Given the description of an element on the screen output the (x, y) to click on. 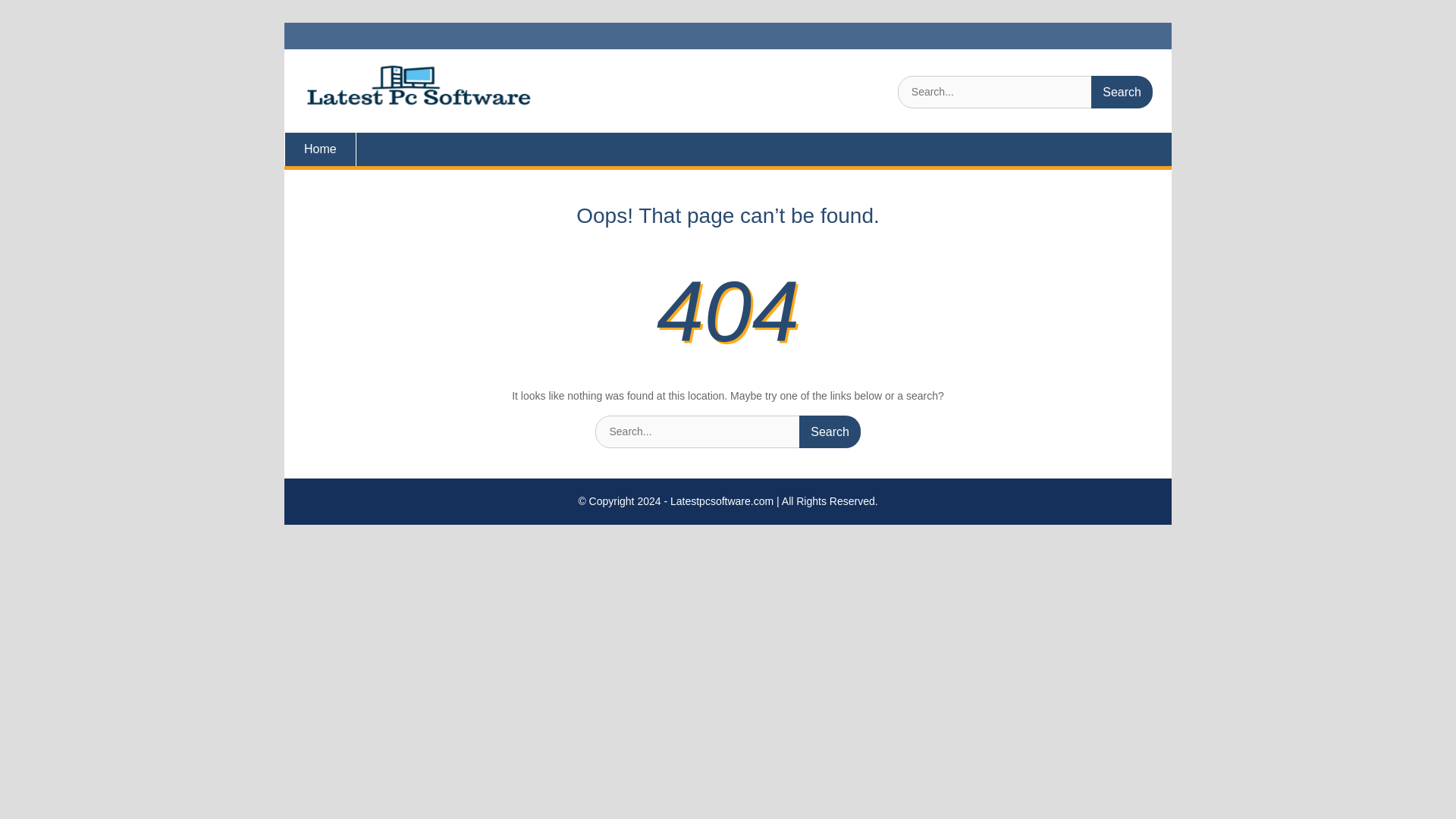
Search for: (1025, 92)
Search (829, 431)
Search (829, 431)
Search (1121, 92)
Search (1121, 92)
Home (319, 149)
Search for: (727, 431)
Search (1121, 92)
Search (829, 431)
